Given the description of an element on the screen output the (x, y) to click on. 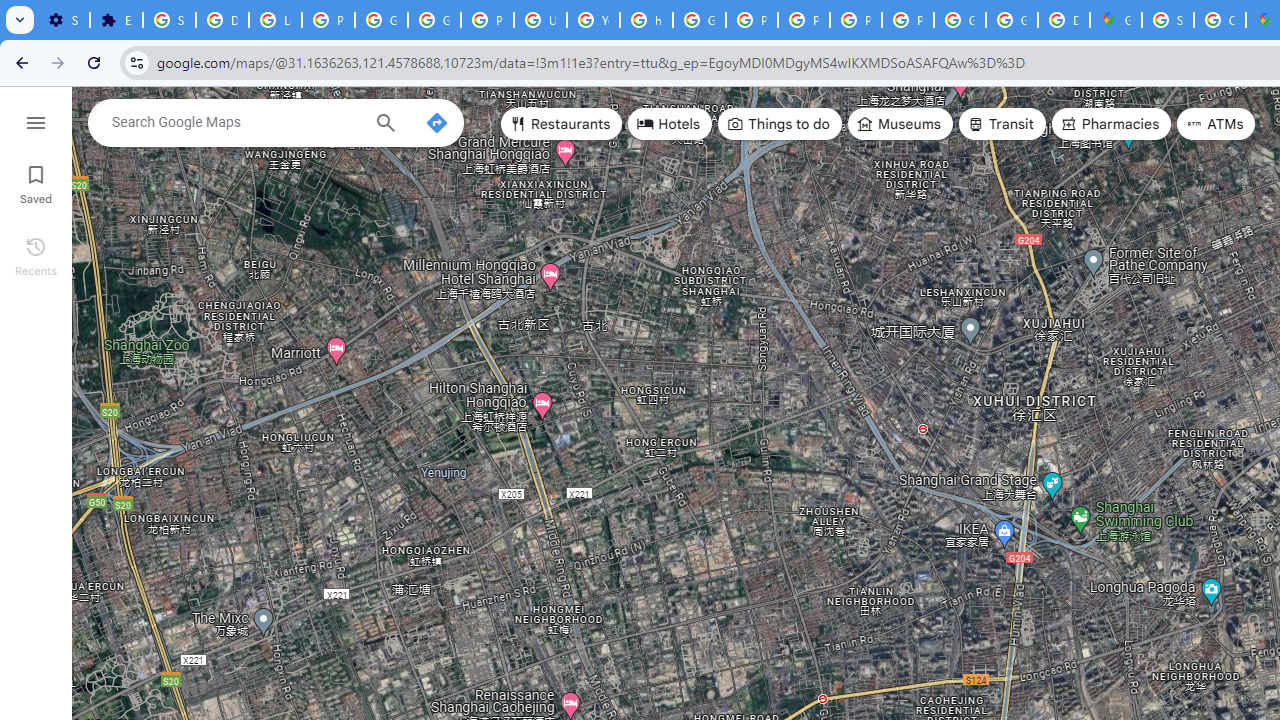
Menu (35, 120)
Create your Google Account (1219, 20)
Restaurants (561, 124)
ATMs (1216, 124)
Sign in - Google Accounts (169, 20)
Search Google Maps (235, 121)
